Given the description of an element on the screen output the (x, y) to click on. 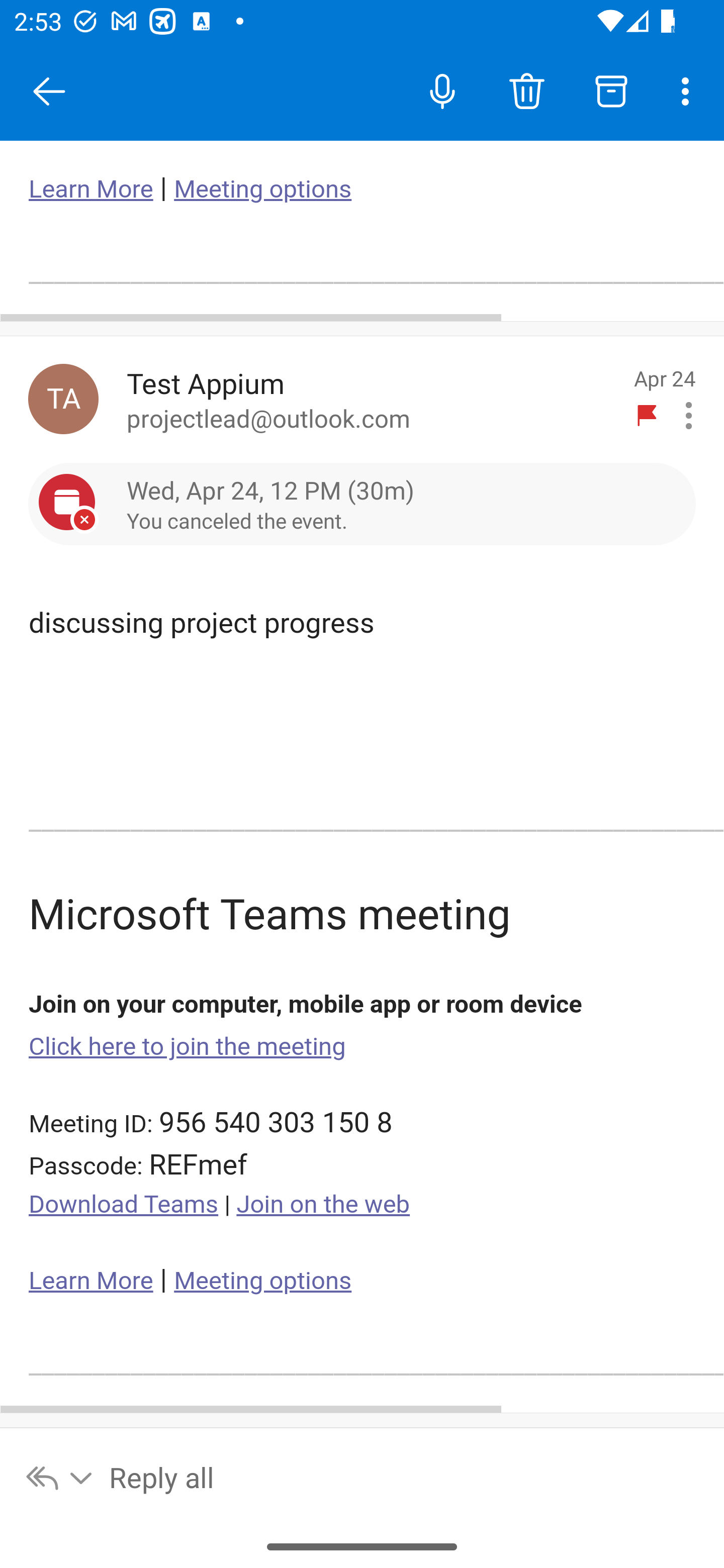
Close (49, 91)
Delete (526, 90)
Archive (611, 90)
More options (688, 90)
Learn More (90, 189)
Meeting options (262, 189)
Test Appium, testappium002@outlook.com (63, 398)
Test Appium
to projectlead@outlook.com (372, 398)
Message actions (688, 416)
Click here to join the meeting (187, 1046)
Download Teams (124, 1204)
Join on the web (323, 1204)
Learn More (90, 1280)
Meeting options (262, 1280)
Reply options (59, 1476)
